Given the description of an element on the screen output the (x, y) to click on. 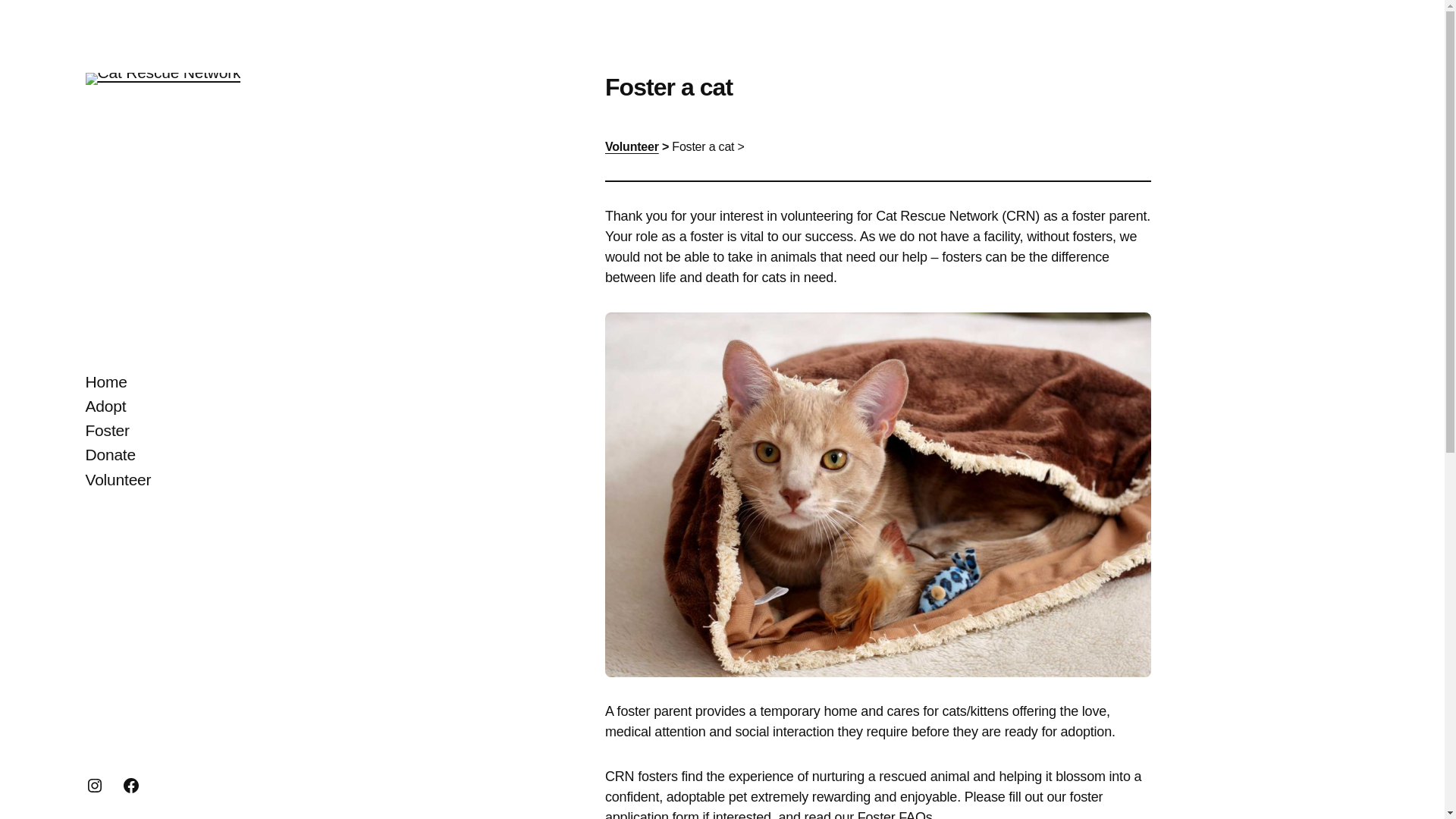
Adopt (104, 405)
Volunteer (117, 478)
Facebook (129, 785)
Donate (109, 454)
Home (105, 381)
Instagram (93, 785)
Foster FAQs (895, 814)
Volunteer (632, 146)
Foster (106, 430)
